Given the description of an element on the screen output the (x, y) to click on. 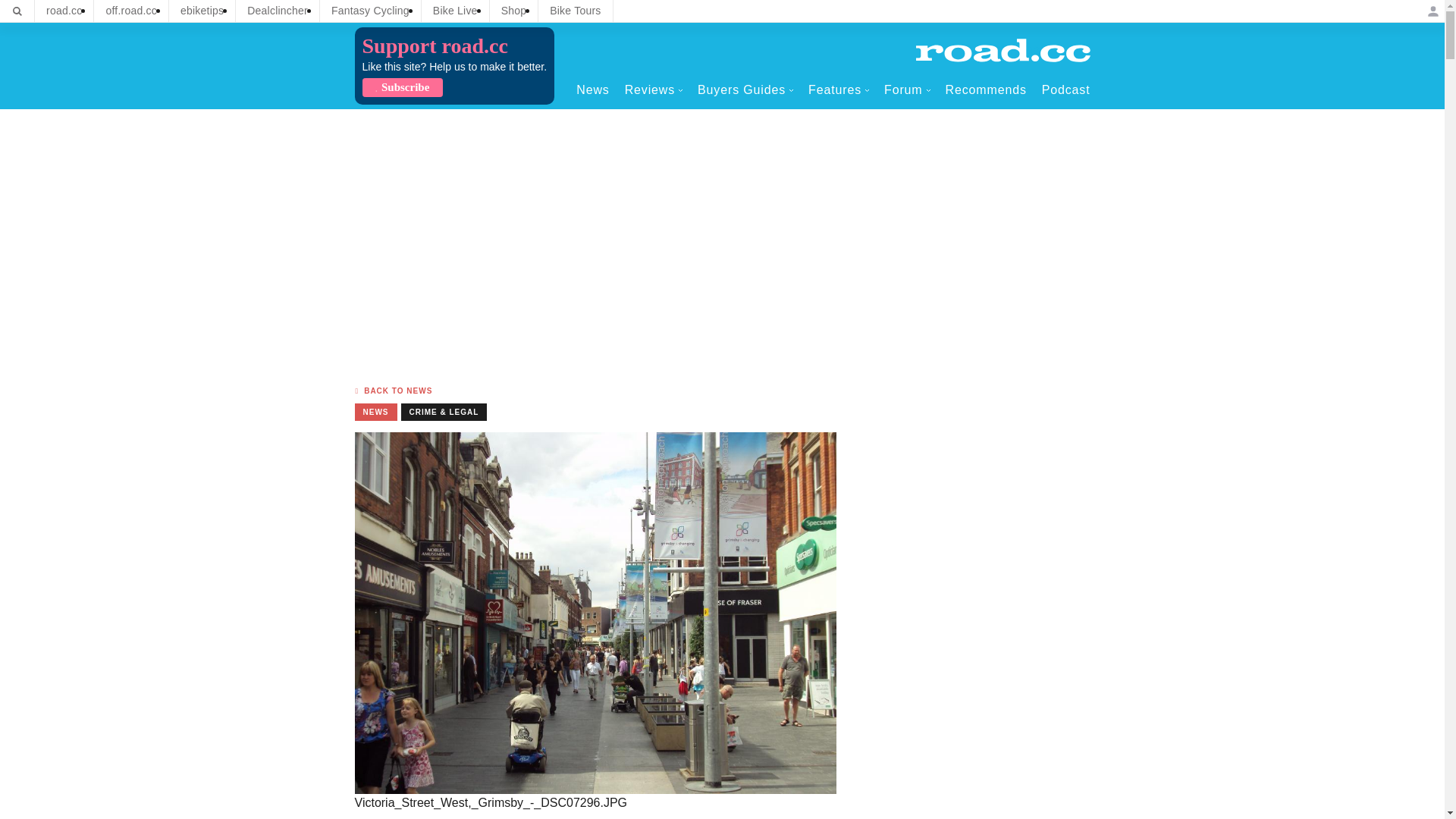
off.road.cc (131, 11)
Bike Live (455, 11)
Subscribe (402, 87)
road.cc (63, 11)
Bike Tours (574, 11)
Shop (513, 11)
Fantasy Cycling (370, 11)
ebiketips (201, 11)
Dealclincher (276, 11)
Reviews (653, 89)
Home (1002, 50)
